Given the description of an element on the screen output the (x, y) to click on. 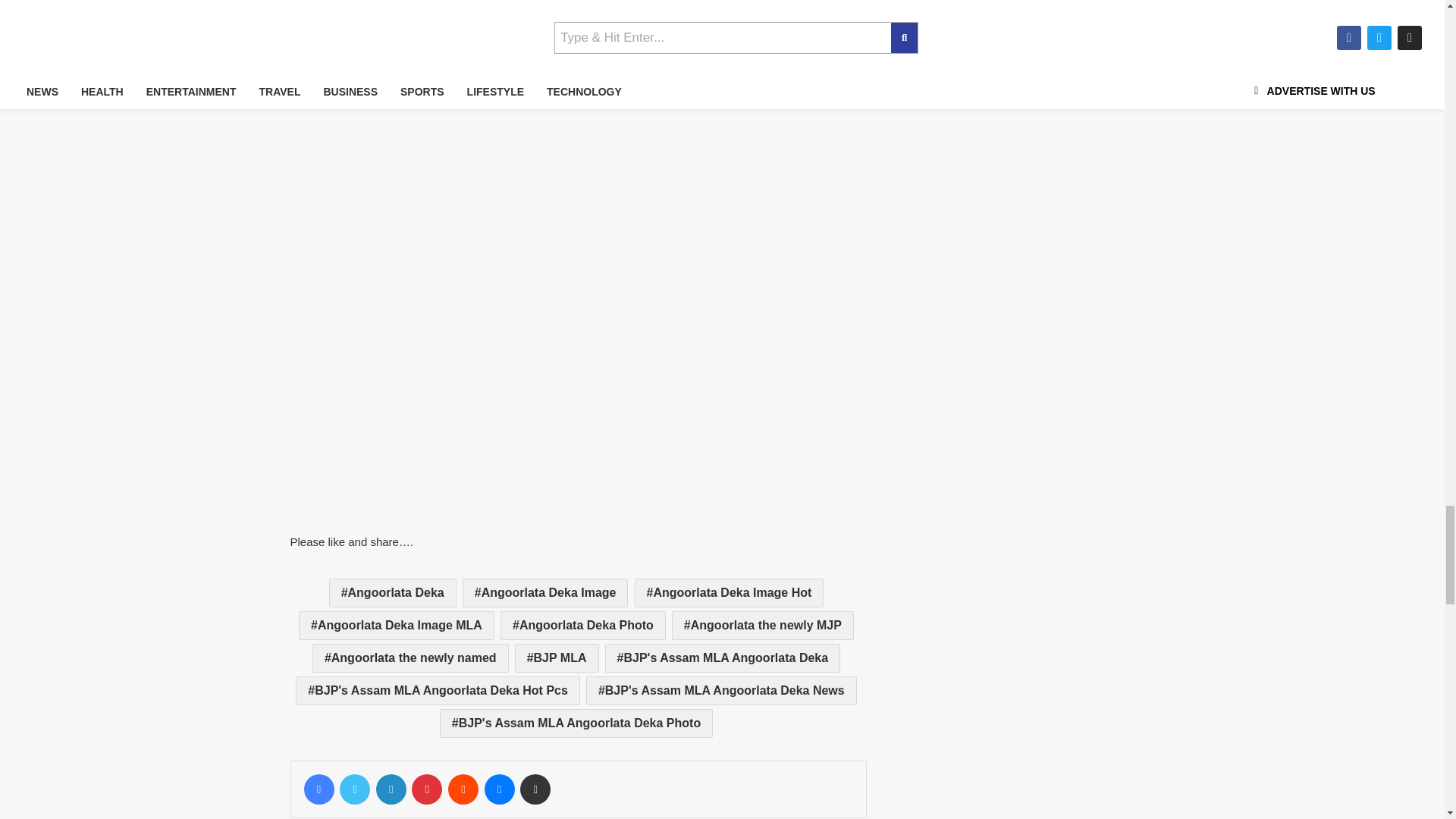
Share via Email (534, 788)
Twitter (354, 788)
Pinterest (427, 788)
Facebook (317, 788)
Messenger (499, 788)
LinkedIn (390, 788)
Reddit (463, 788)
